Given the description of an element on the screen output the (x, y) to click on. 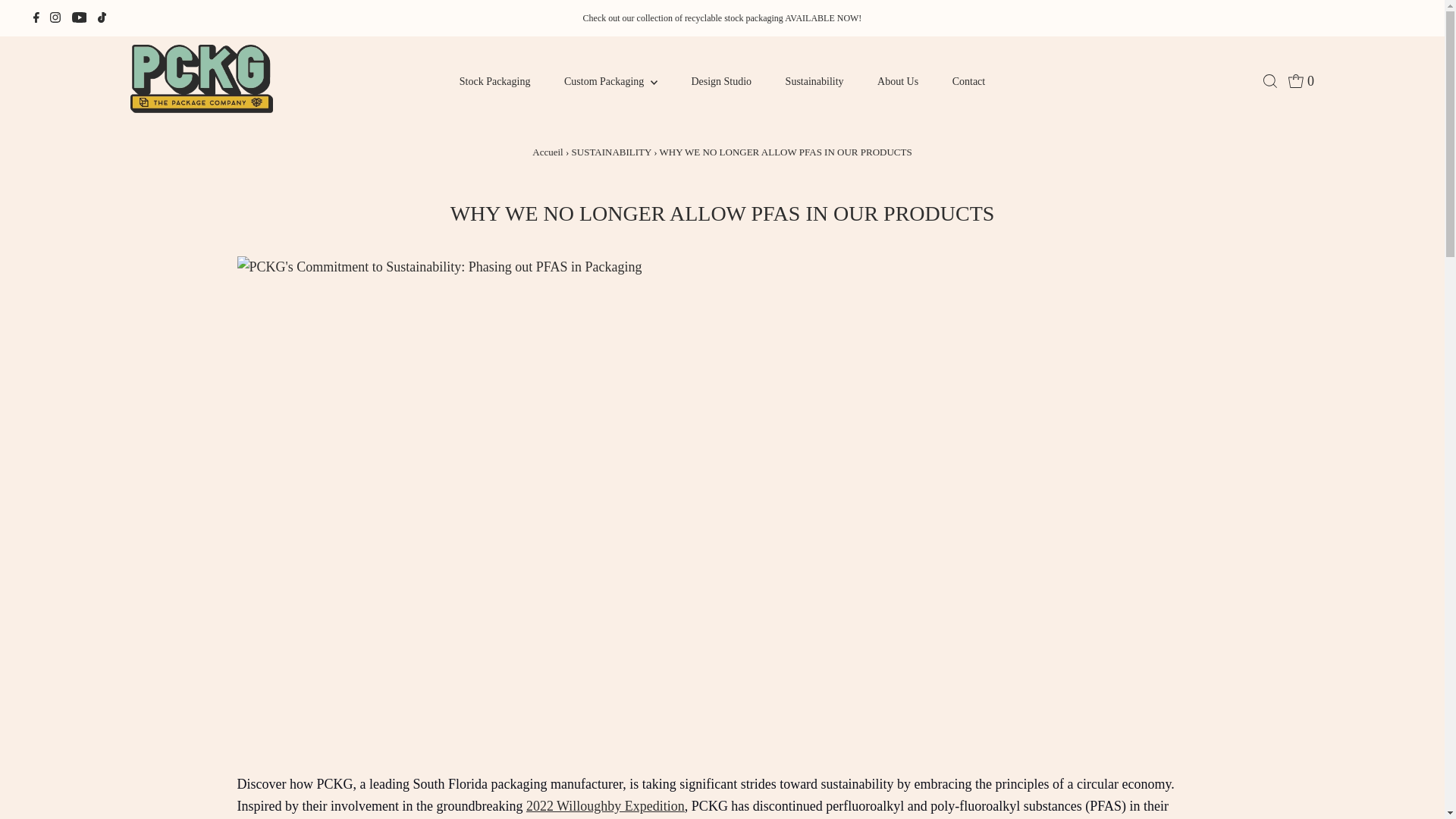
Accueil (547, 152)
Sustainability (814, 81)
About Us (897, 81)
2022 Willoughby Expedition (604, 806)
SUSTAINABILITY (611, 152)
Contact (969, 81)
Design Studio (721, 81)
Accueil (547, 152)
Stock Packaging (495, 81)
Willoughby Expedition (604, 806)
